Given the description of an element on the screen output the (x, y) to click on. 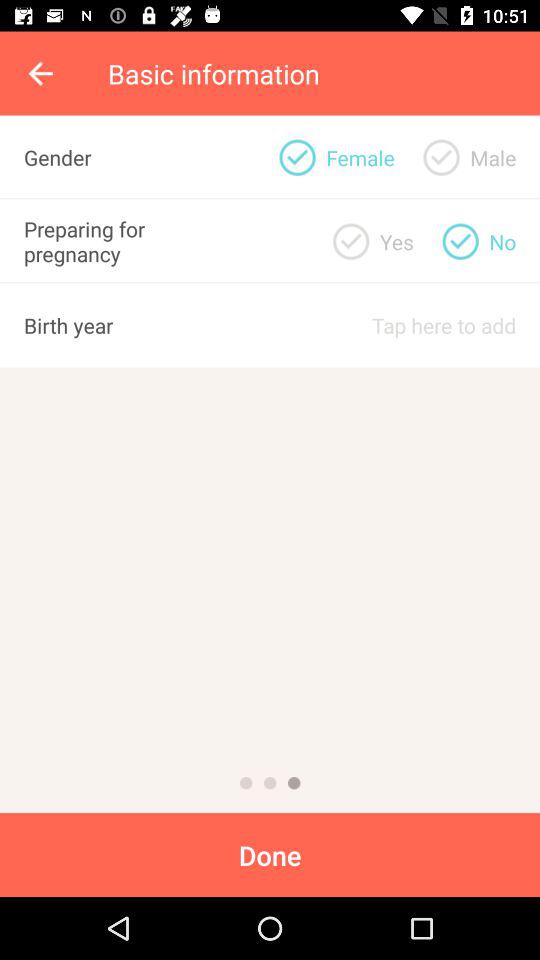
launch icon next to the female (441, 157)
